Given the description of an element on the screen output the (x, y) to click on. 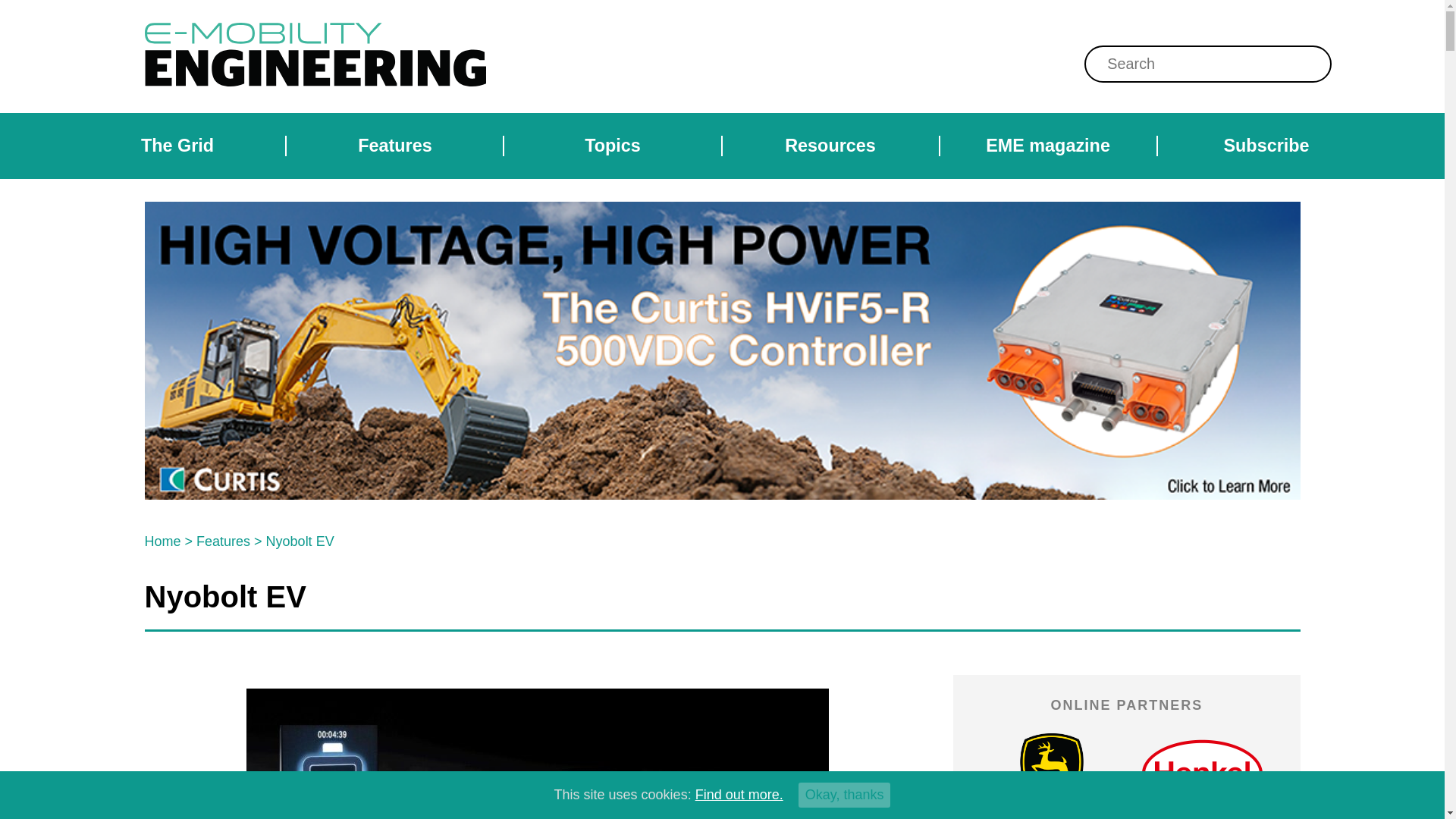
The Grid (177, 145)
EME magazine (1047, 145)
Search (650, 8)
Features (223, 540)
Home (162, 540)
Features (395, 145)
